Given the description of an element on the screen output the (x, y) to click on. 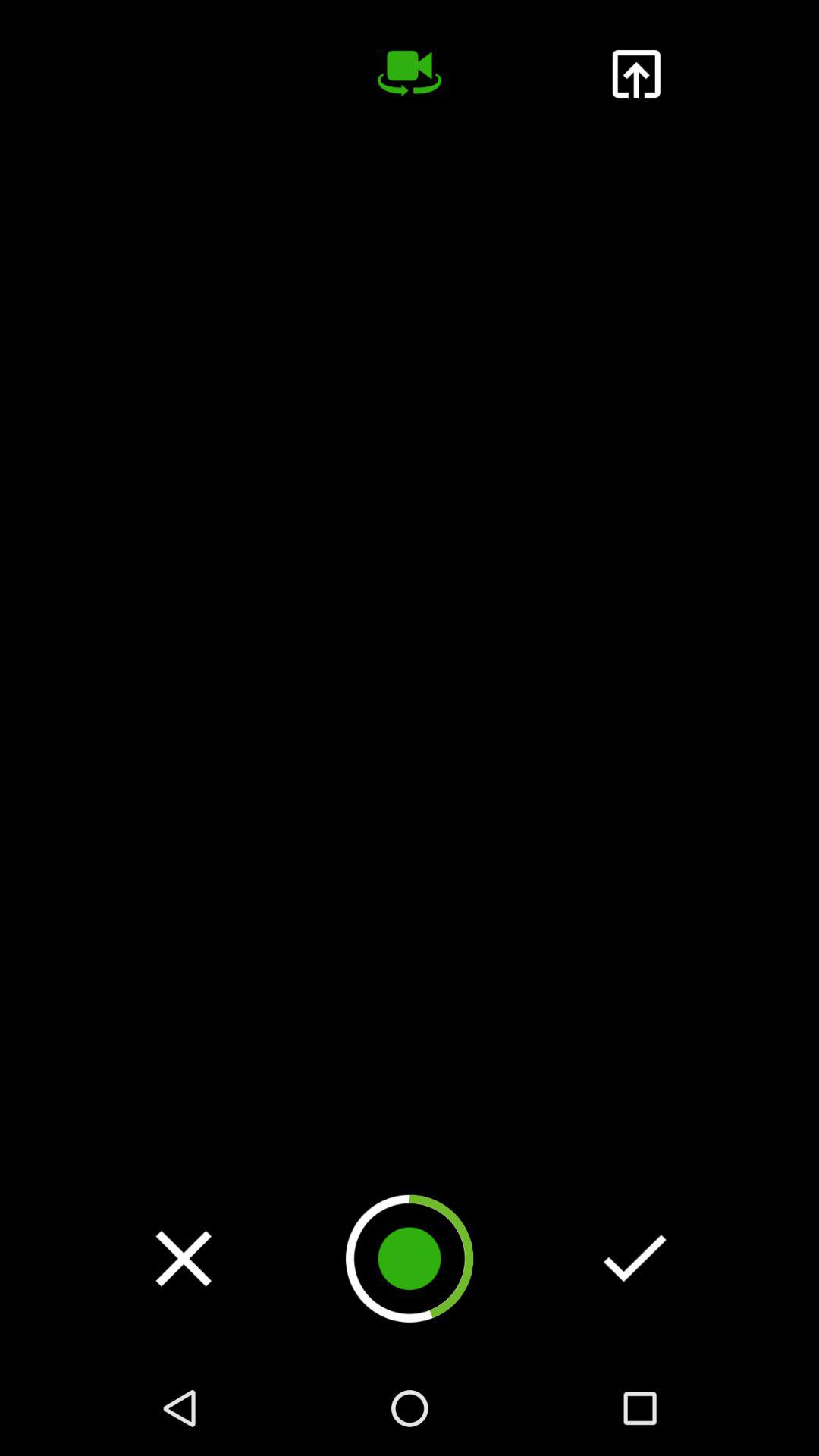
upload (635, 73)
